Given the description of an element on the screen output the (x, y) to click on. 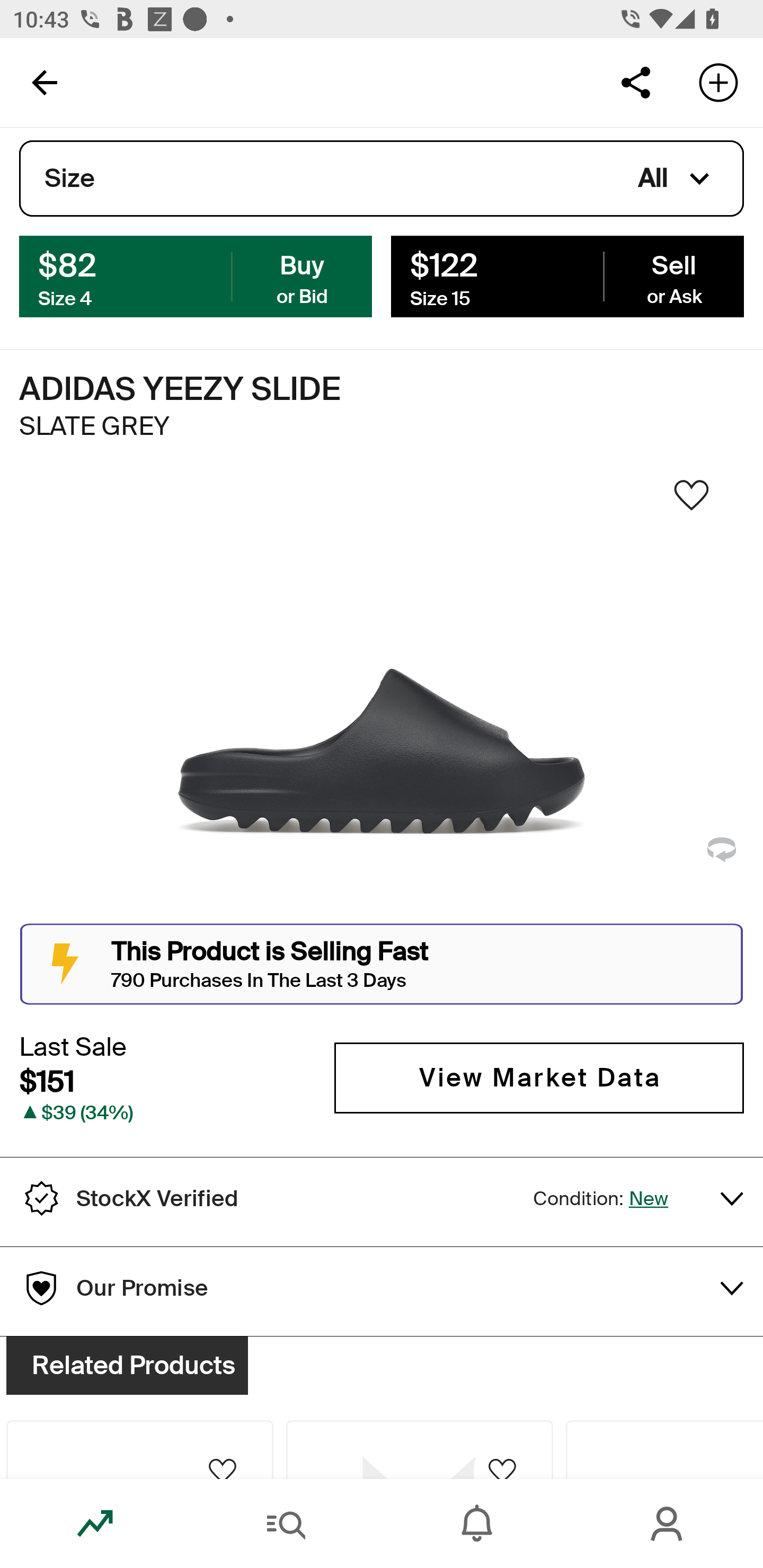
Share (635, 81)
Add (718, 81)
Size All (381, 178)
$82 Buy Size 4 or Bid (195, 275)
$122 Sell Size 15 or Ask (566, 275)
Sneaker Image (381, 699)
View Market Data (538, 1077)
Search (285, 1523)
Inbox (476, 1523)
Account (667, 1523)
